Given the description of an element on the screen output the (x, y) to click on. 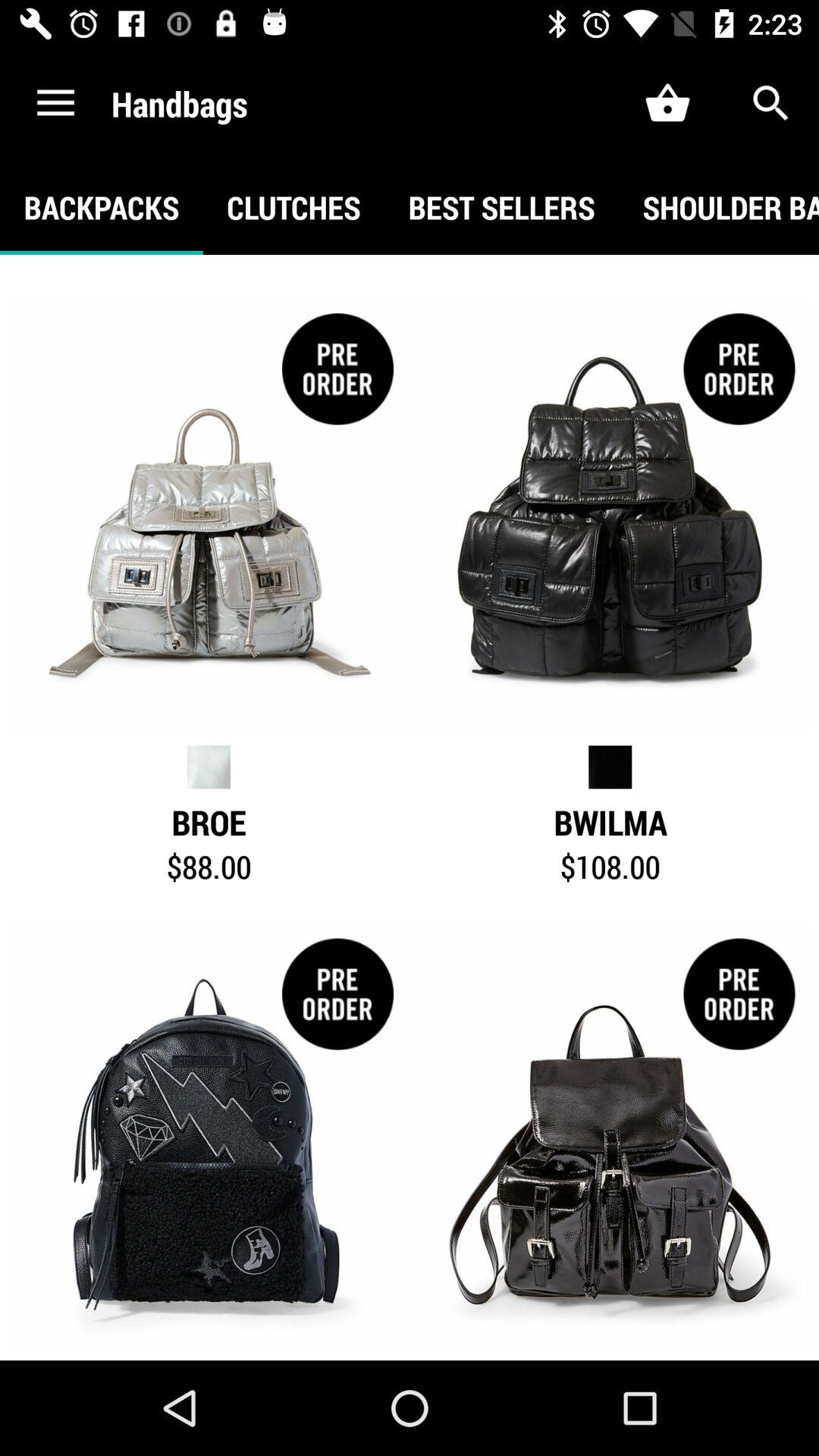
select icon next to the handbags (55, 103)
